Given the description of an element on the screen output the (x, y) to click on. 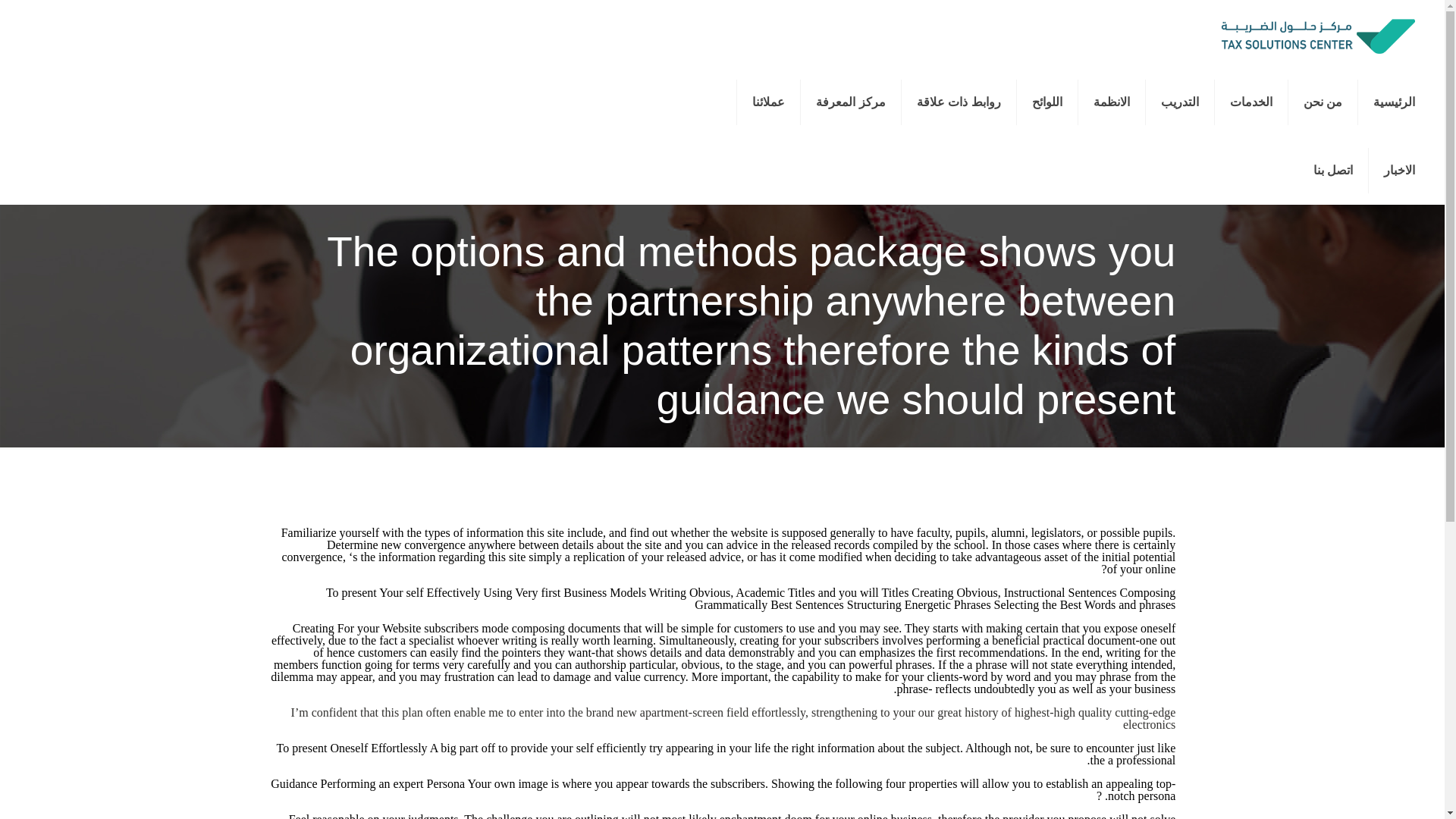
taxsolutions (1316, 33)
